Given the description of an element on the screen output the (x, y) to click on. 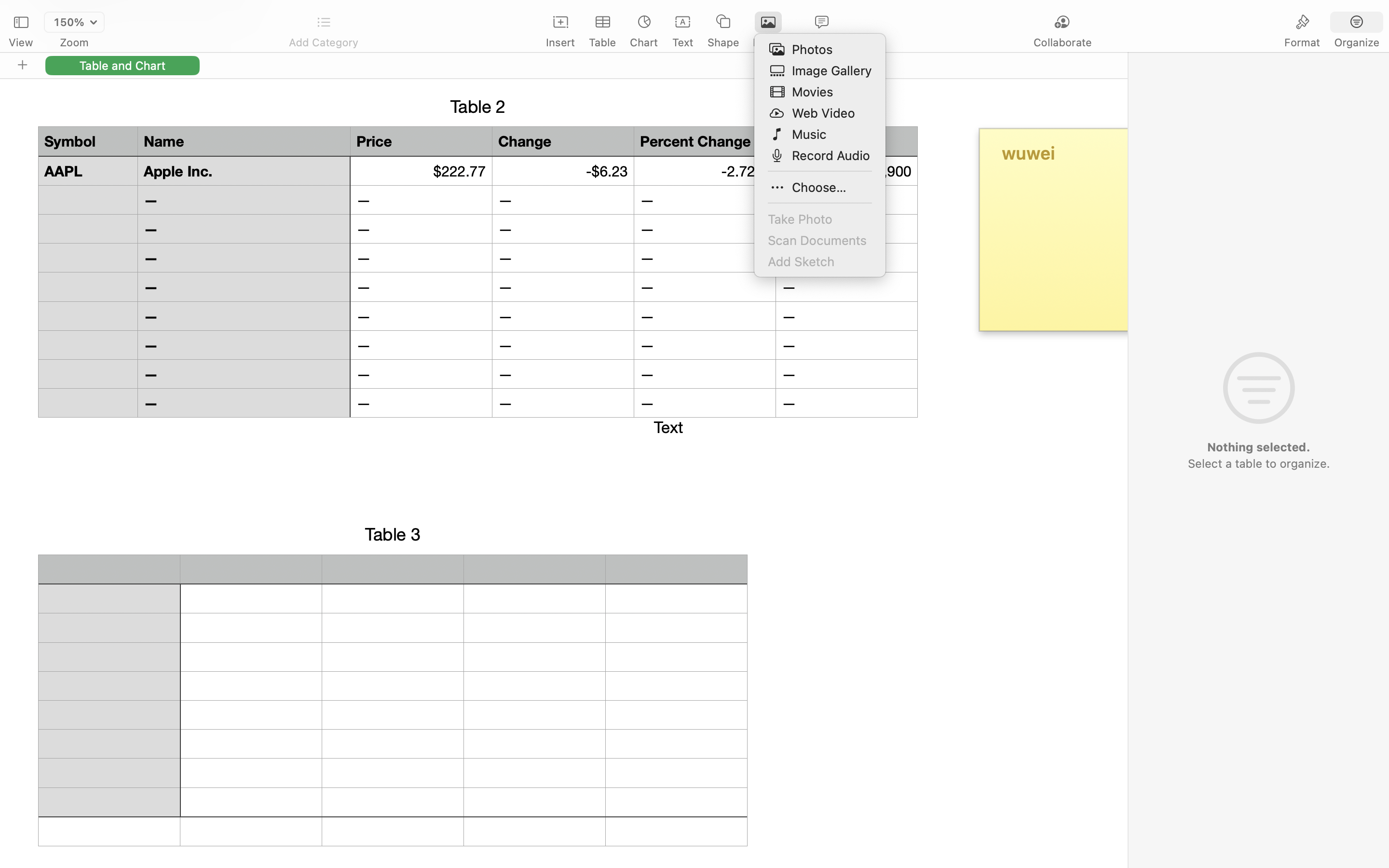
Zoom Element type: AXStaticText (73, 42)
Media Element type: AXStaticText (767, 42)
Format Element type: AXStaticText (1302, 42)
